Given the description of an element on the screen output the (x, y) to click on. 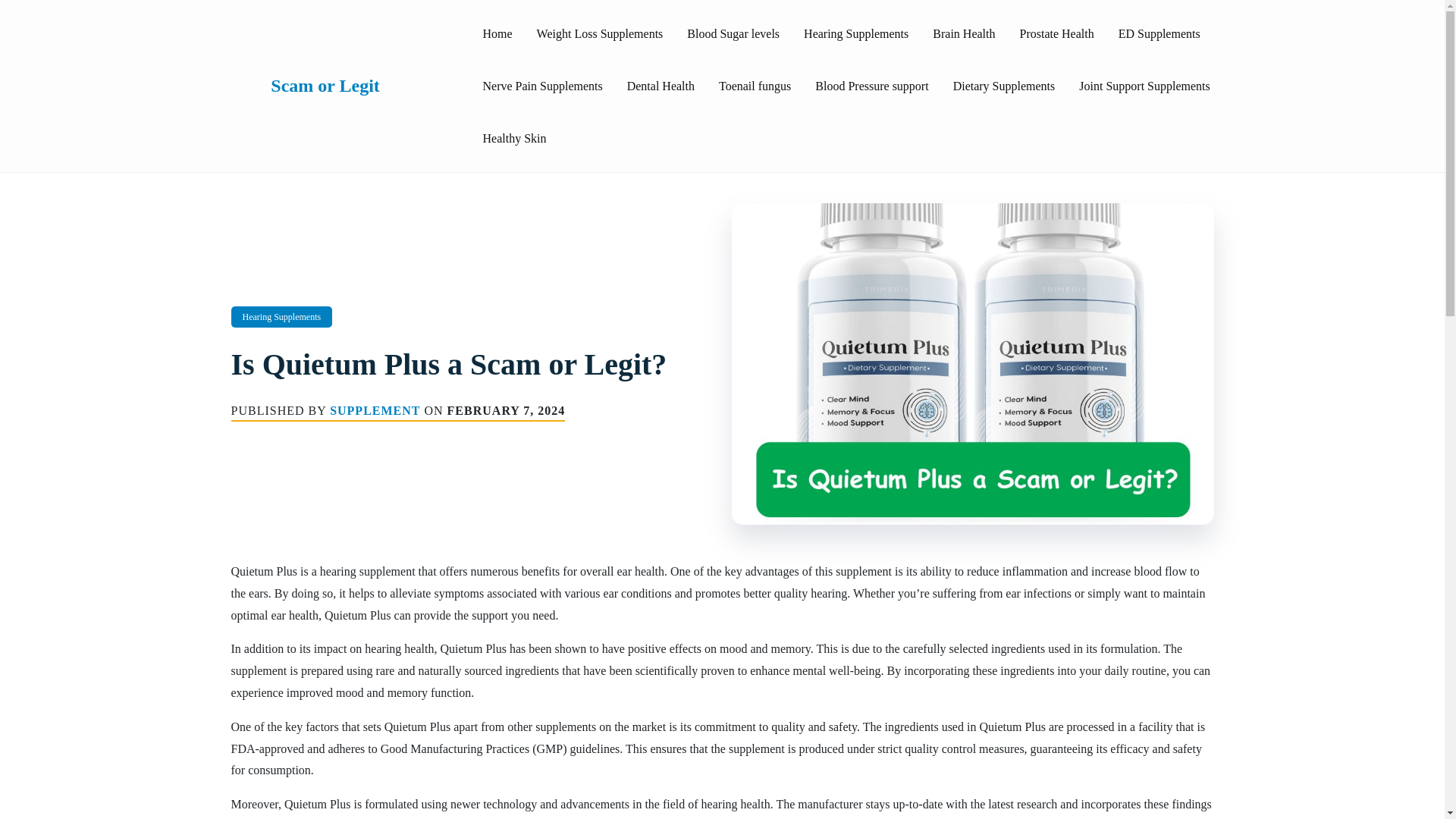
Hearing Supplements (280, 316)
Toenail fungus (754, 85)
Weight Loss Supplements (599, 33)
Brain Health (963, 33)
Dietary Supplements (1003, 85)
ED Supplements (1159, 33)
Hearing Supplements (856, 33)
SUPPLEMENT (375, 410)
Prostate Health (1056, 33)
Joint Support Supplements (1144, 85)
Nerve Pain Supplements (542, 85)
Healthy Skin (513, 138)
Scam or Legit (361, 85)
Blood Sugar levels (733, 33)
Home (497, 33)
